Given the description of an element on the screen output the (x, y) to click on. 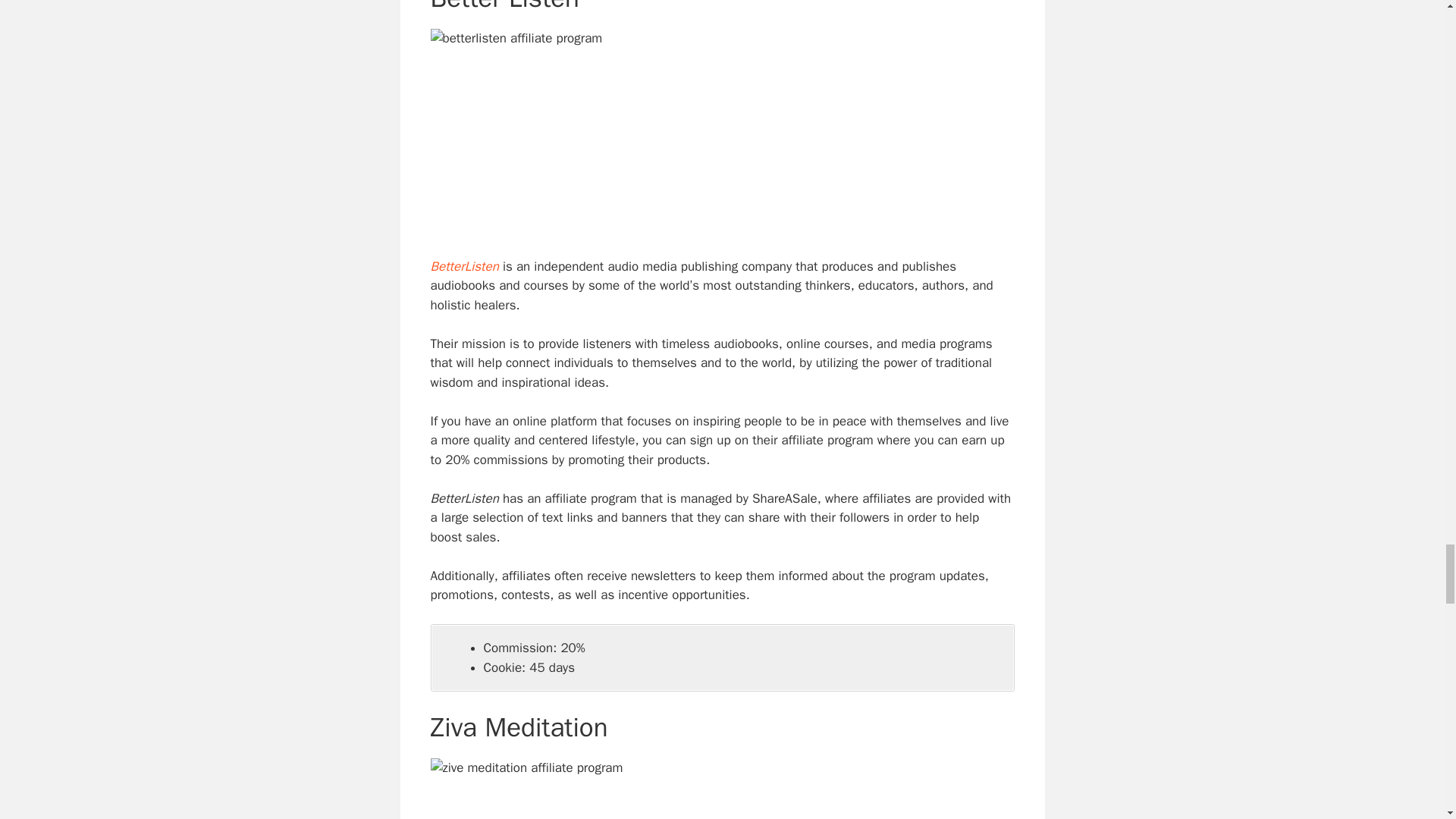
BetterListen (464, 266)
